Given the description of an element on the screen output the (x, y) to click on. 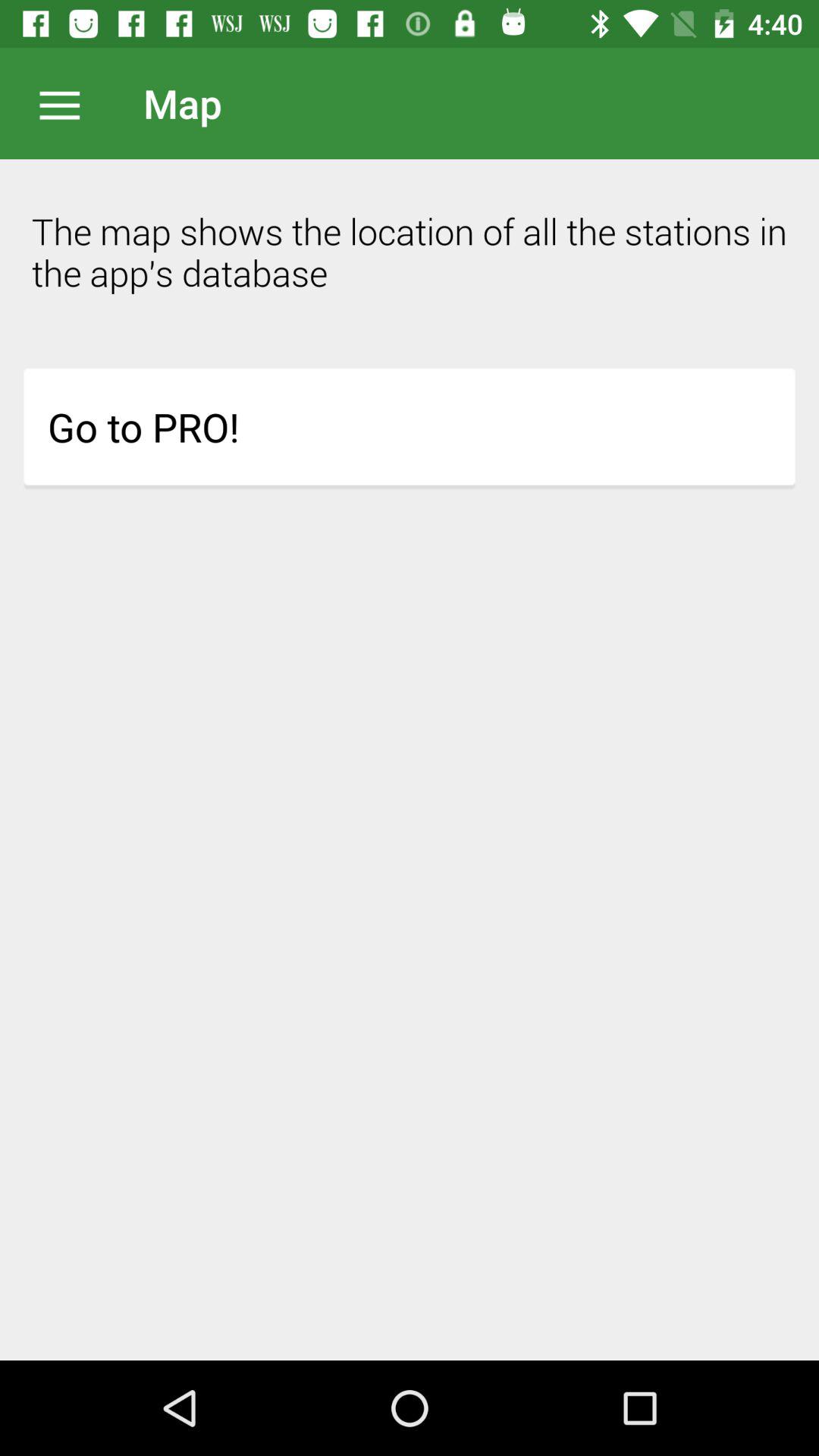
press the item next to map item (67, 103)
